Given the description of an element on the screen output the (x, y) to click on. 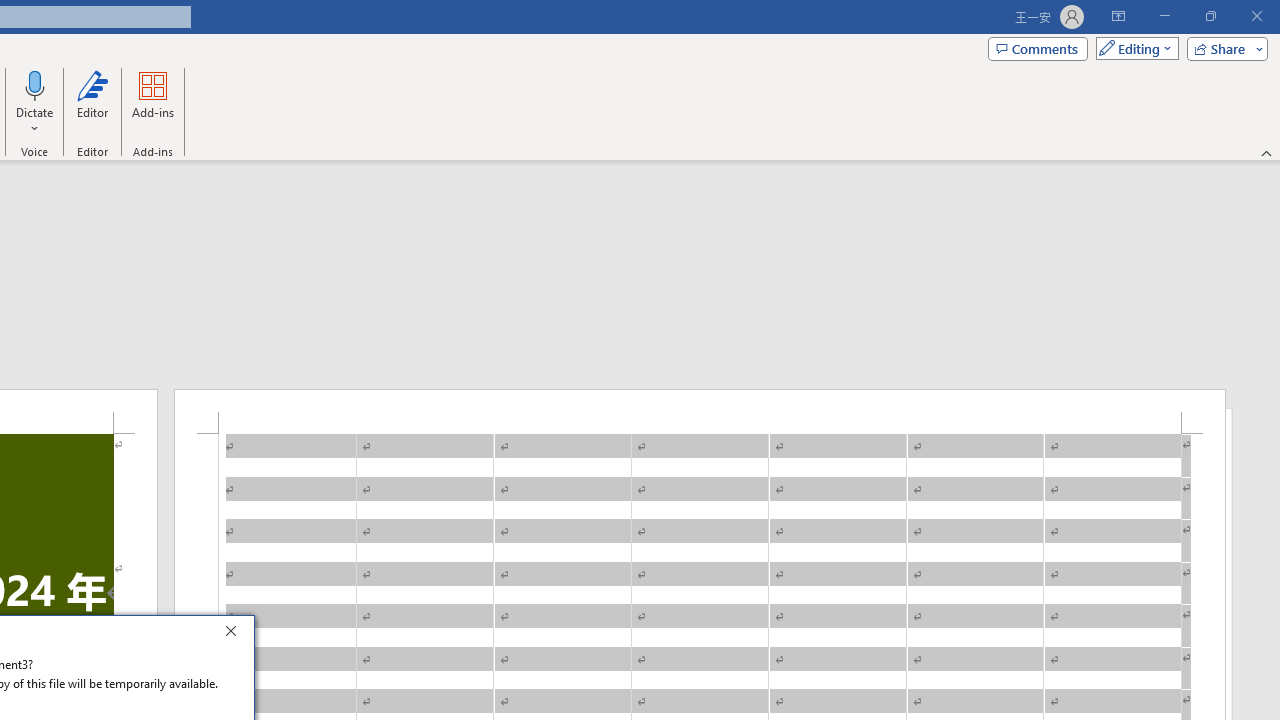
More Options (35, 121)
Editor (92, 102)
Share (1223, 48)
Mode (1133, 47)
Close (236, 633)
Collapse the Ribbon (1267, 152)
Dictate (35, 102)
Comments (1038, 48)
Restore Down (1210, 16)
Dictate (35, 84)
Minimize (1164, 16)
Ribbon Display Options (1118, 16)
